Given the description of an element on the screen output the (x, y) to click on. 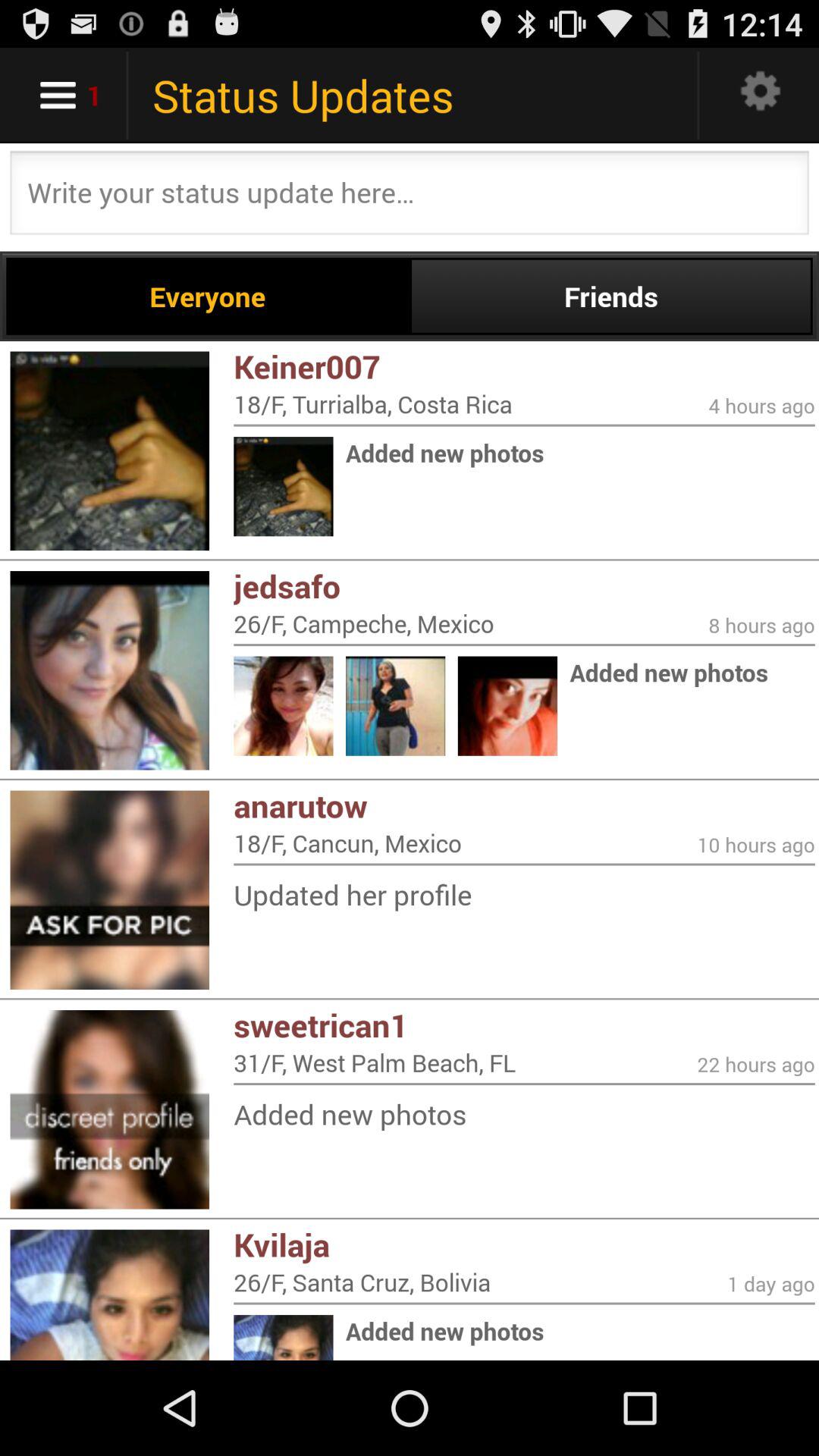
swipe to friends (610, 295)
